Given the description of an element on the screen output the (x, y) to click on. 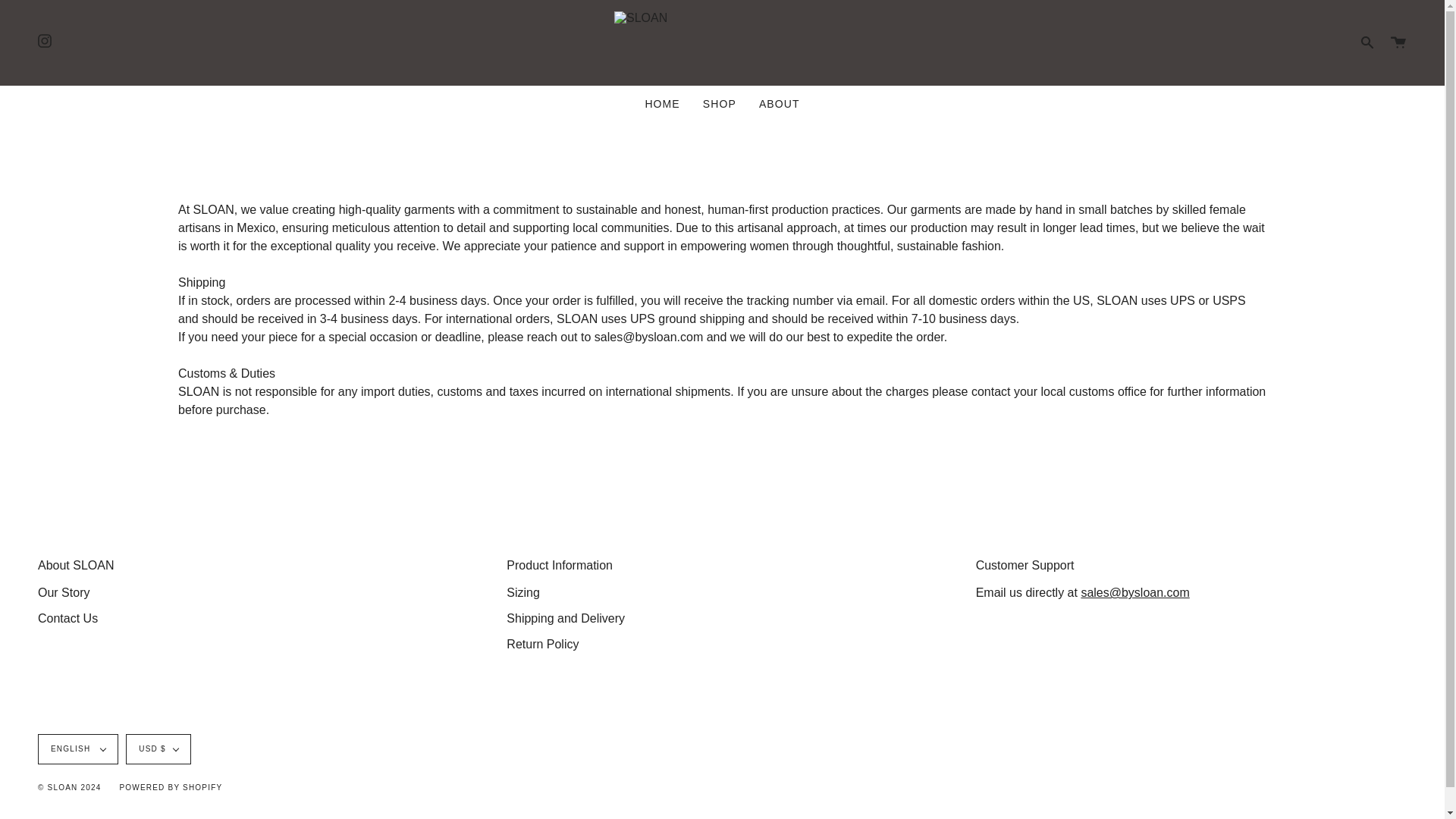
HOME (661, 103)
SHOP (719, 103)
ABOUT (779, 103)
